Given the description of an element on the screen output the (x, y) to click on. 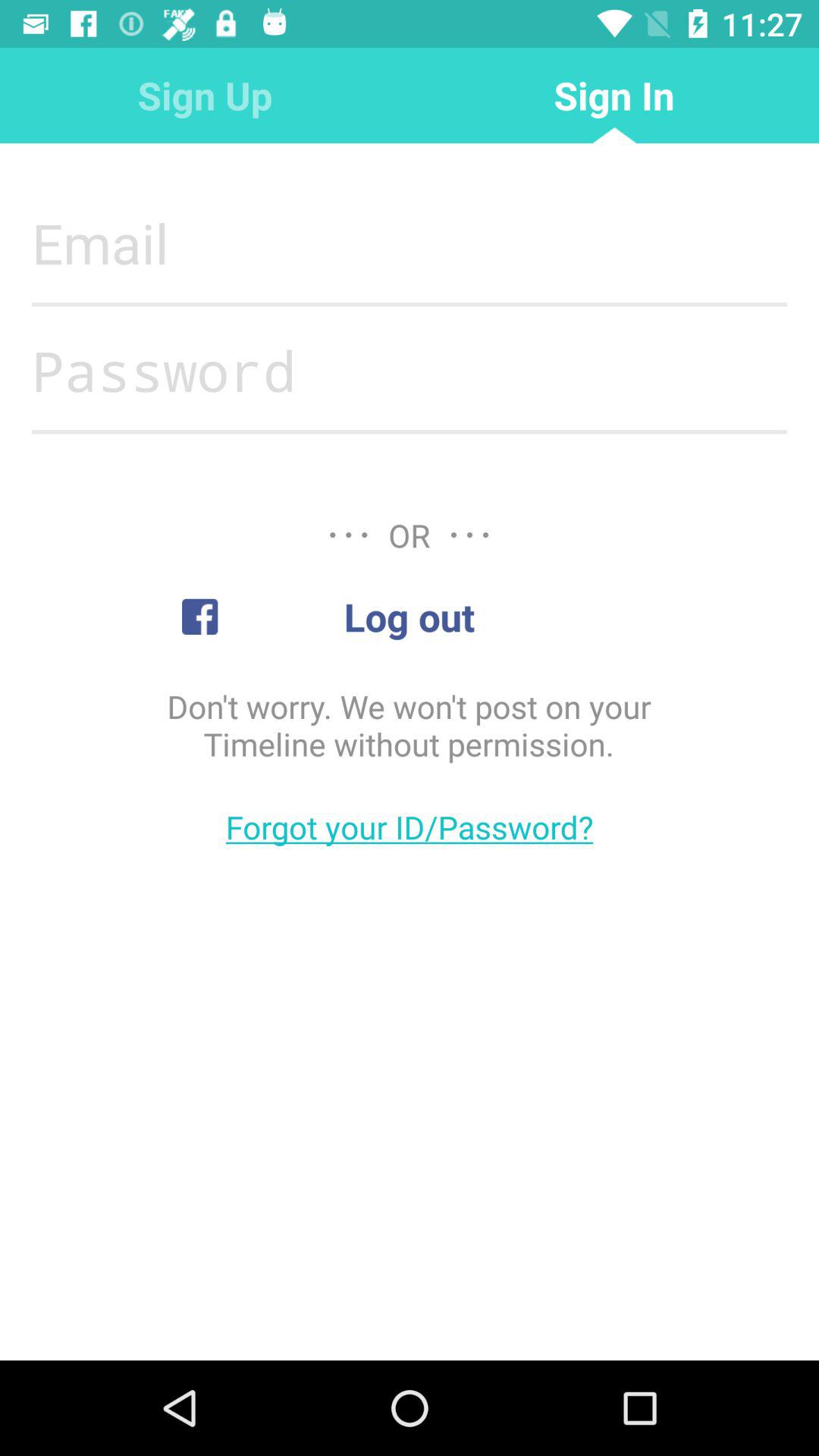
launch the sign up icon (204, 95)
